Given the description of an element on the screen output the (x, y) to click on. 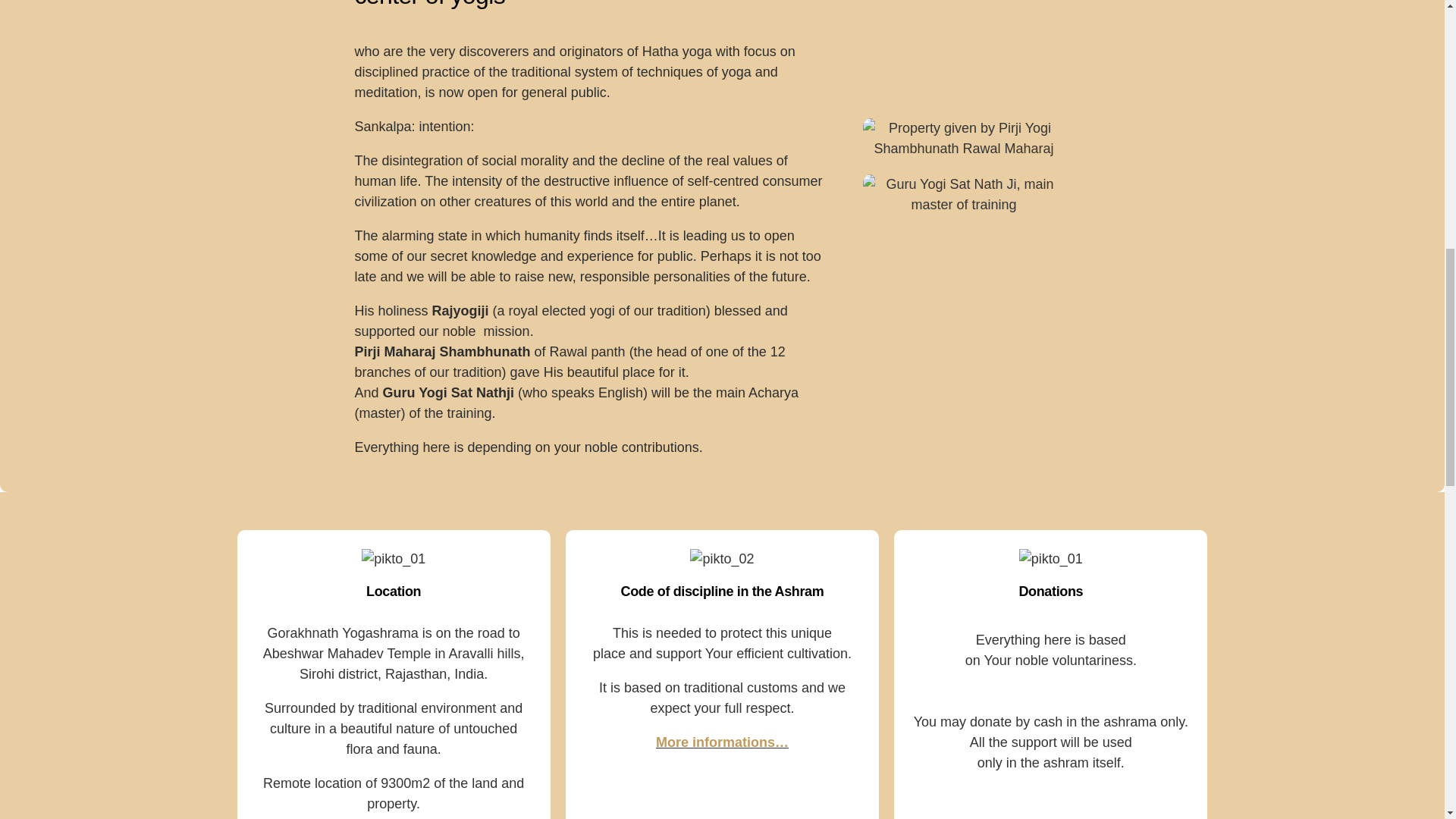
Pirji Yogi Shambhunath Rawal Maharaj (963, 137)
Code of discipline in the Ashram (722, 590)
Guru Yogi Sat Nath Ji (963, 194)
Donations (1050, 590)
